Given the description of an element on the screen output the (x, y) to click on. 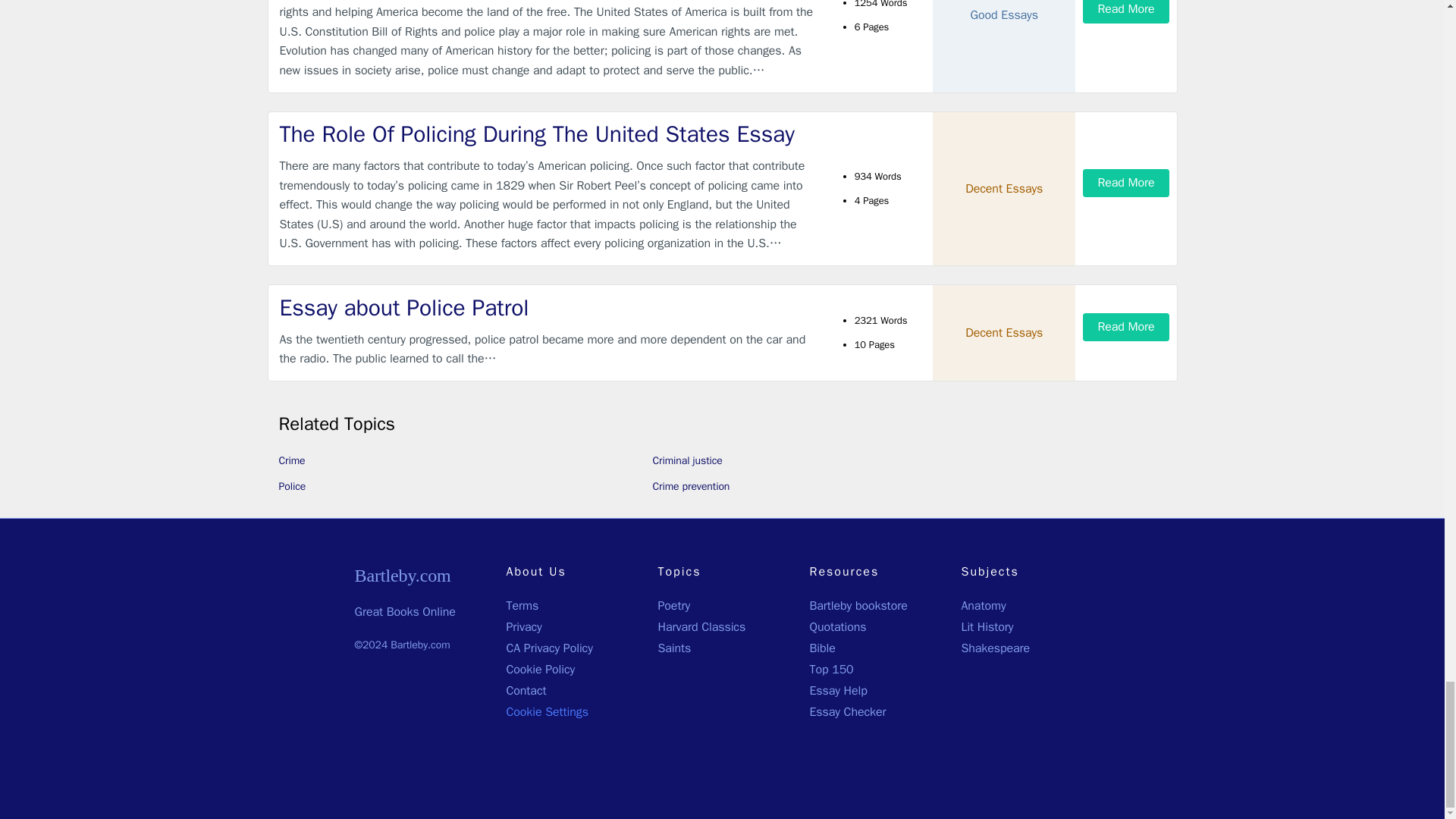
Crime prevention (690, 486)
Police (292, 486)
Crime (292, 460)
Criminal justice (687, 460)
